Given the description of an element on the screen output the (x, y) to click on. 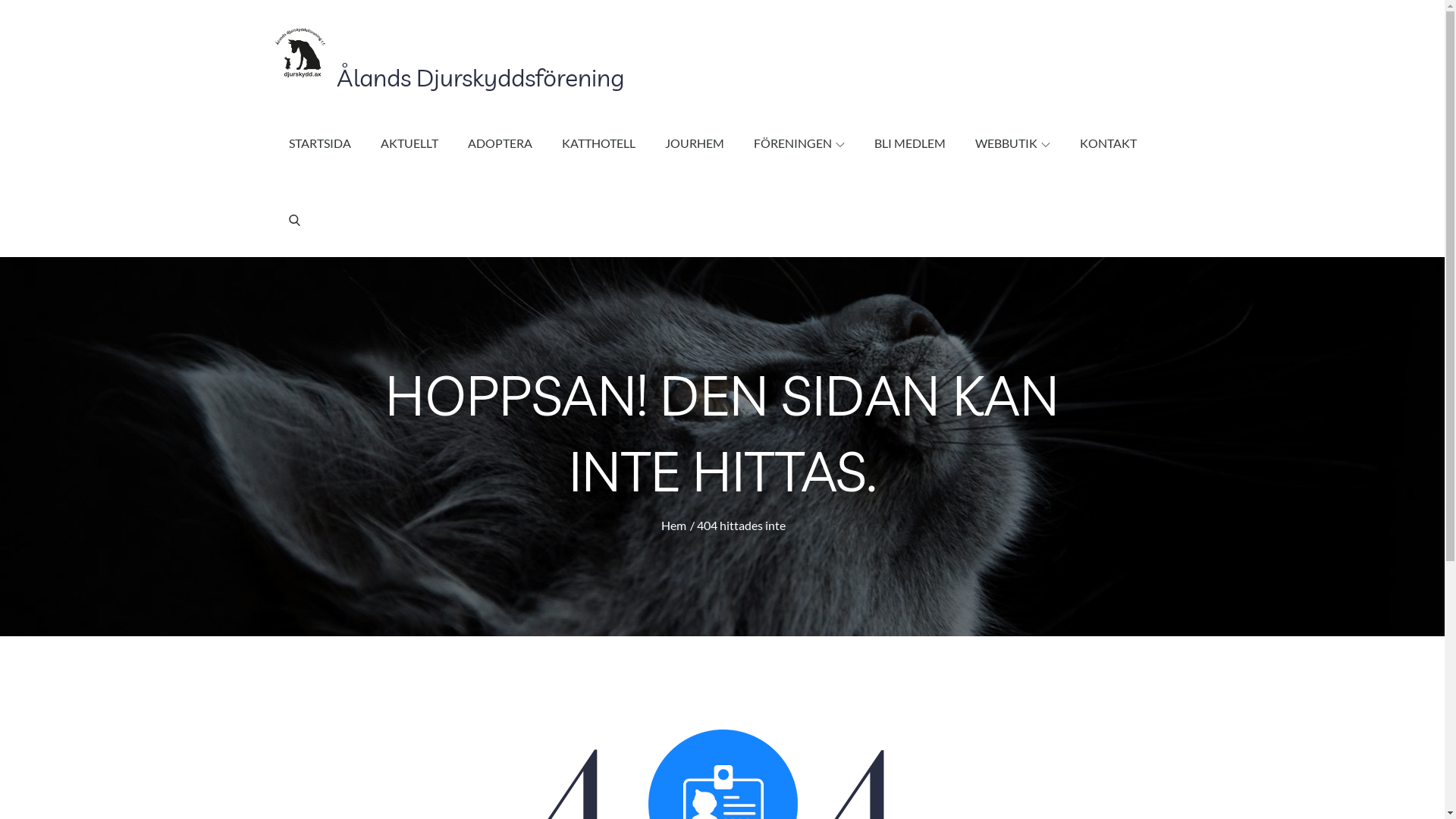
AKTUELLT Element type: text (409, 143)
BLI MEDLEM Element type: text (908, 143)
KATTHOTELL Element type: text (597, 143)
WEBBUTIK Element type: text (1012, 143)
Hem Element type: text (673, 524)
KONTAKT Element type: text (1108, 143)
JOURHEM Element type: text (693, 143)
ADOPTERA Element type: text (499, 143)
STARTSIDA Element type: text (319, 143)
